Given the description of an element on the screen output the (x, y) to click on. 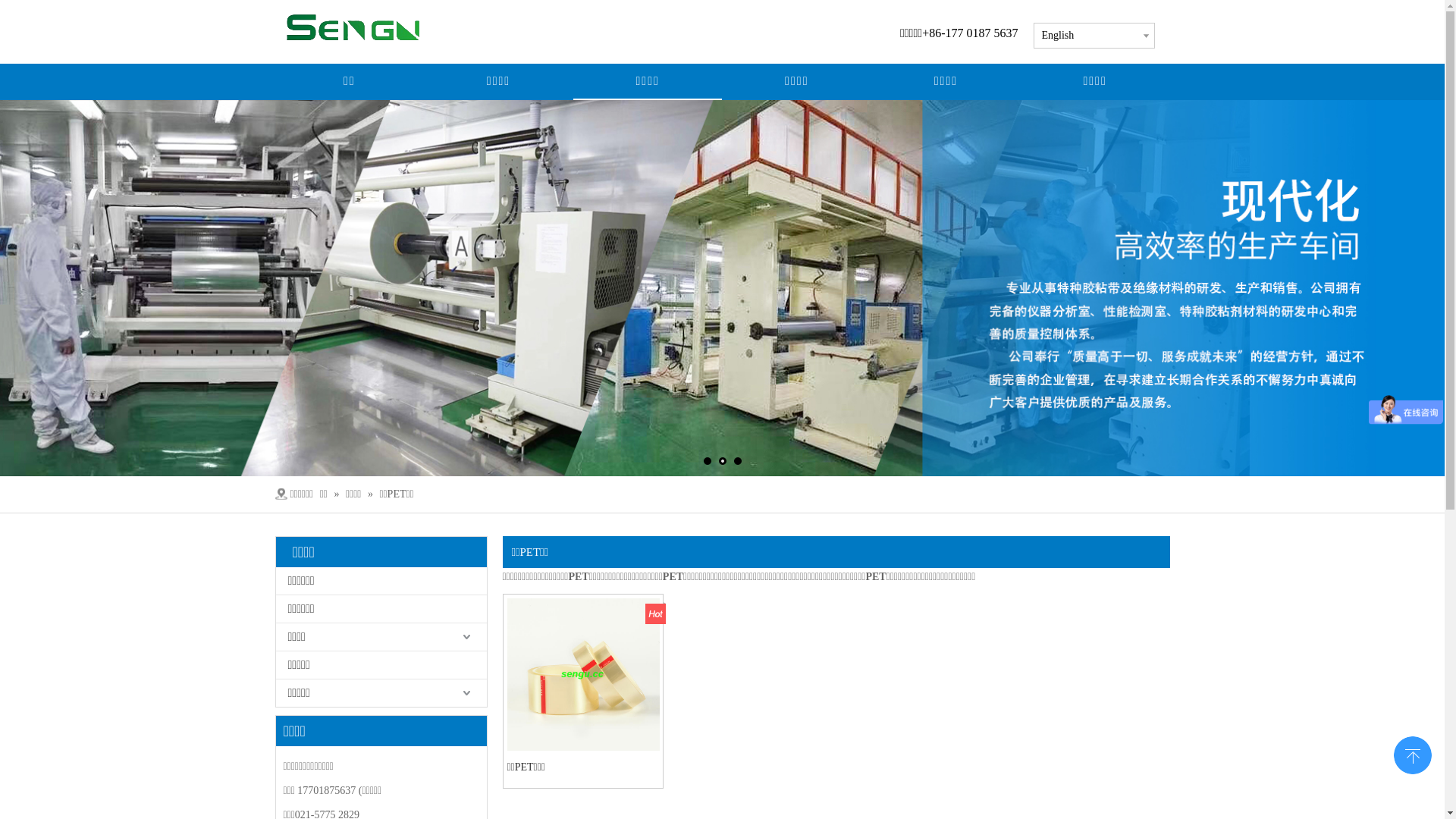
logo Element type: hover (366, 26)
top Element type: text (1412, 753)
